Given the description of an element on the screen output the (x, y) to click on. 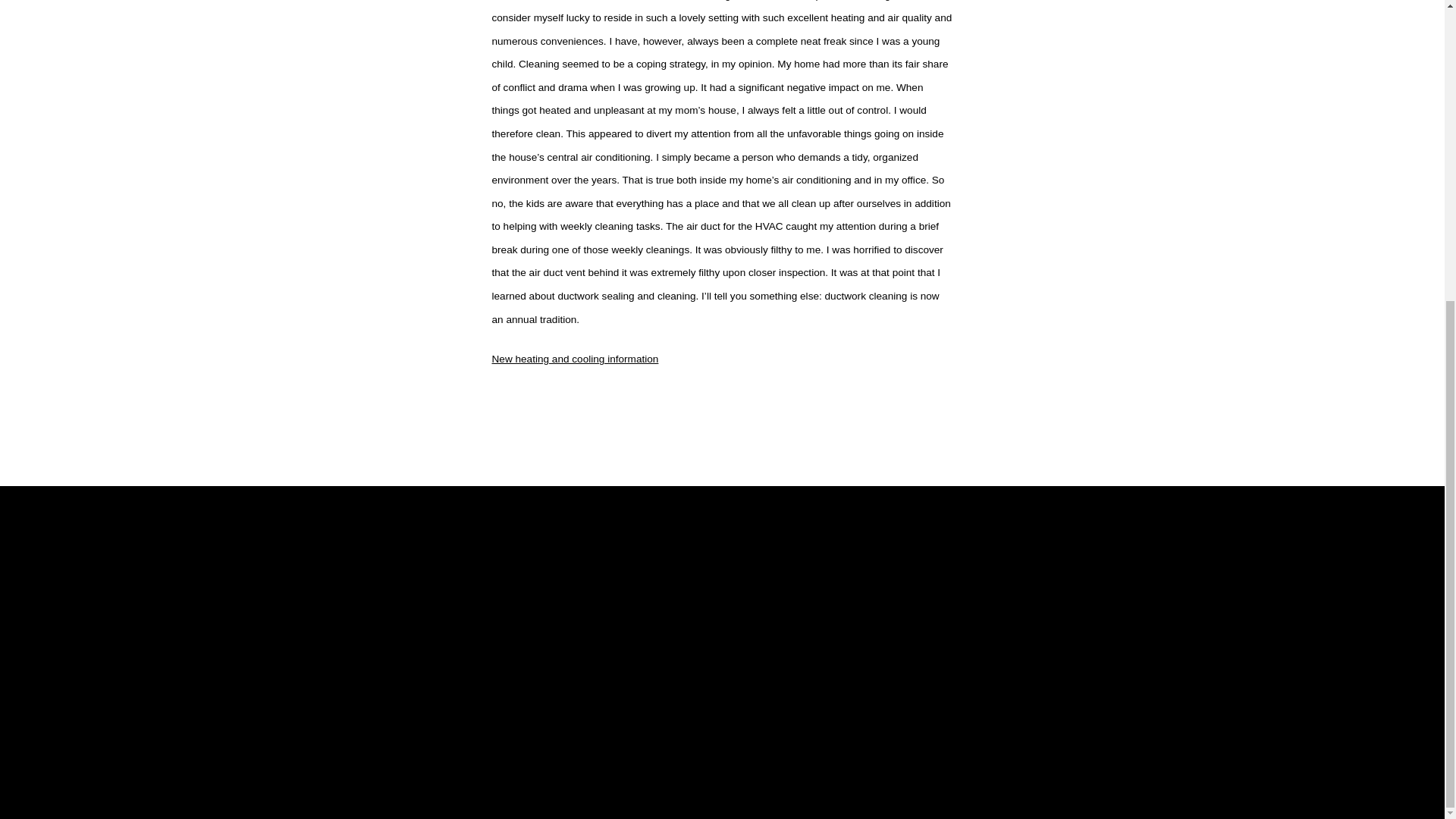
Home (514, 645)
Open LinkedIn in a new tab (1149, 737)
New heating and cooling information (575, 358)
Open Pinterest in a new tab (1199, 737)
Open Twitter in a new tab (1052, 737)
Open Instagram in a new tab (1101, 737)
THE AIR CONDITIONER TAX CREDIT BLOG (355, 625)
Open Facebook in a new tab (1002, 737)
